Given the description of an element on the screen output the (x, y) to click on. 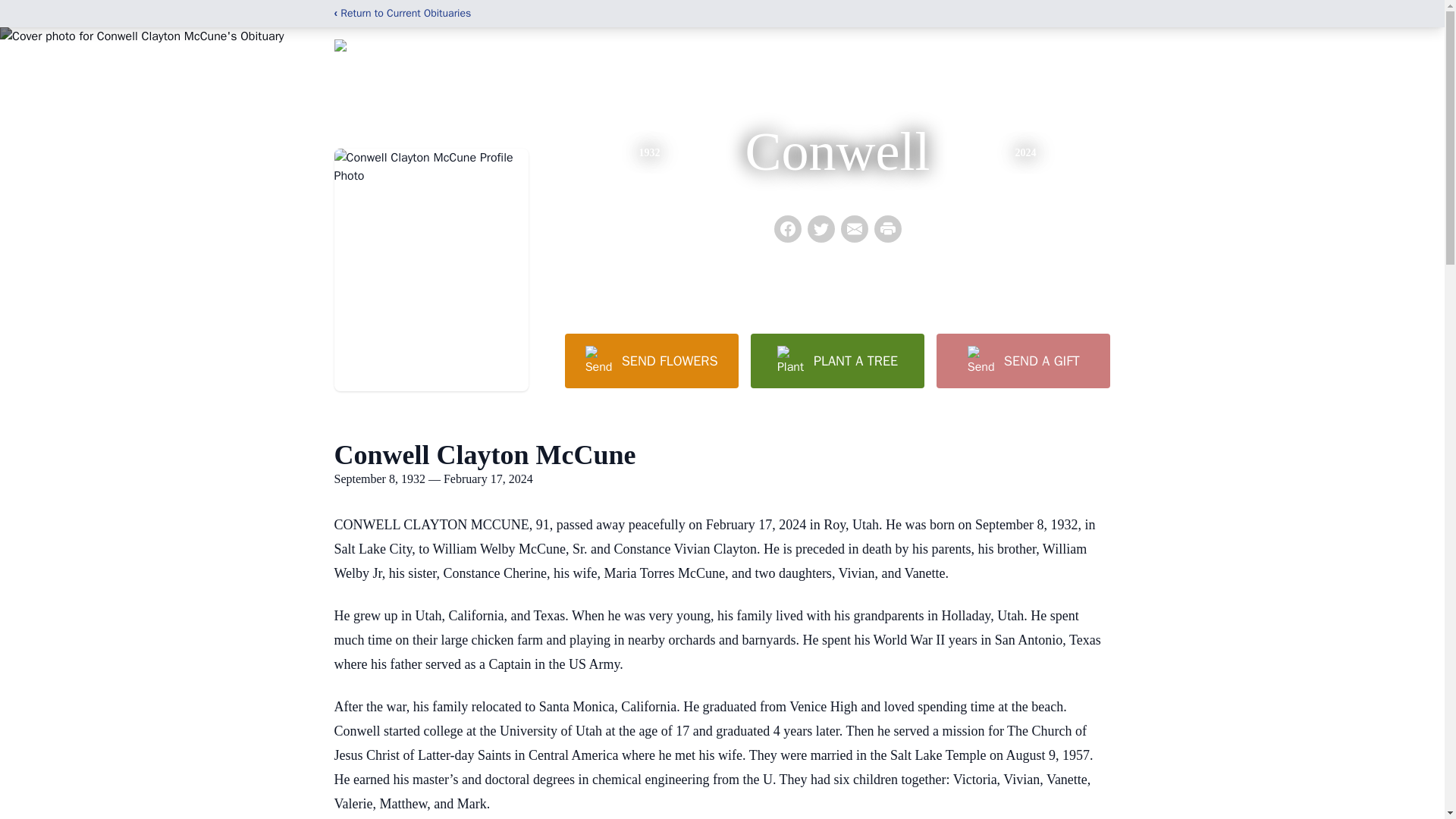
SEND A GIFT (1022, 360)
PLANT A TREE (837, 360)
SEND FLOWERS (651, 360)
